Given the description of an element on the screen output the (x, y) to click on. 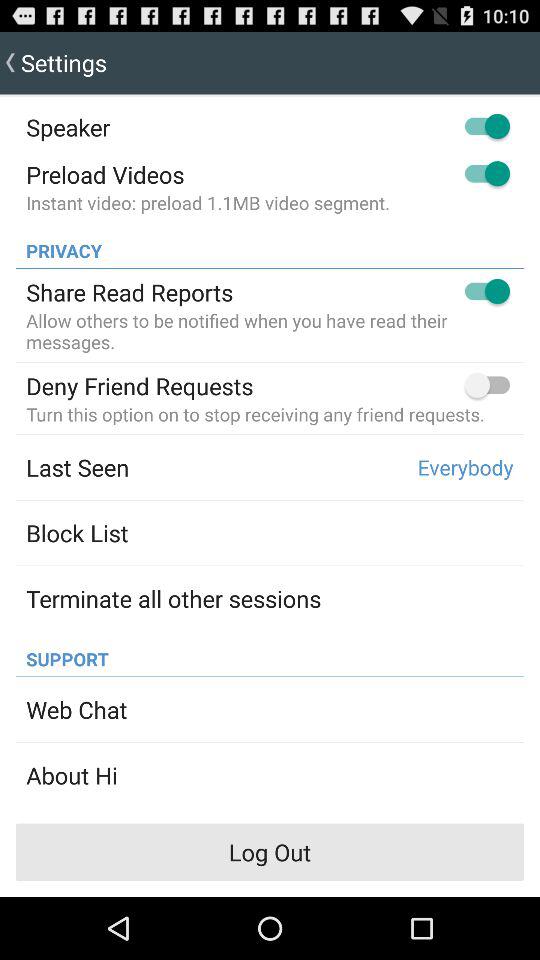
turn on app below the preload videos icon (207, 202)
